Given the description of an element on the screen output the (x, y) to click on. 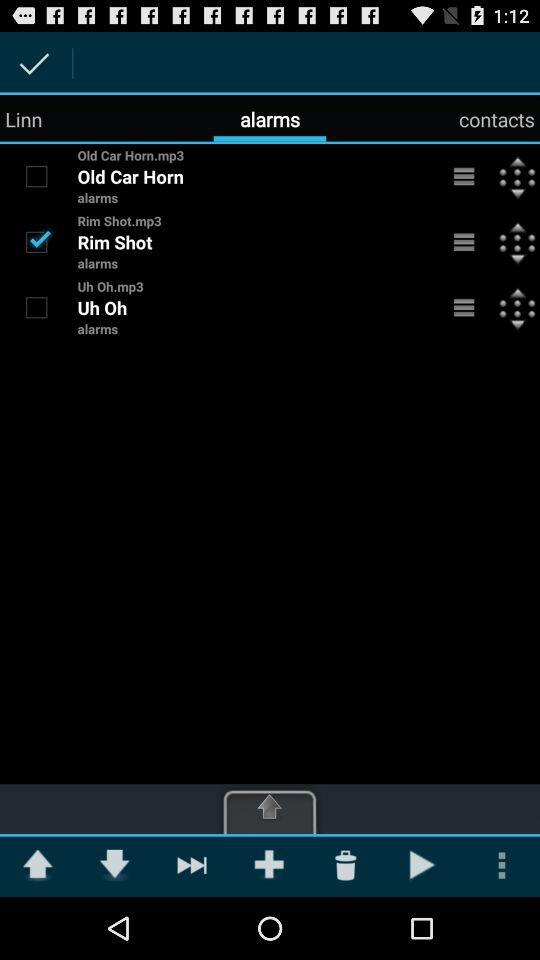
select alarm sound (36, 176)
